Given the description of an element on the screen output the (x, y) to click on. 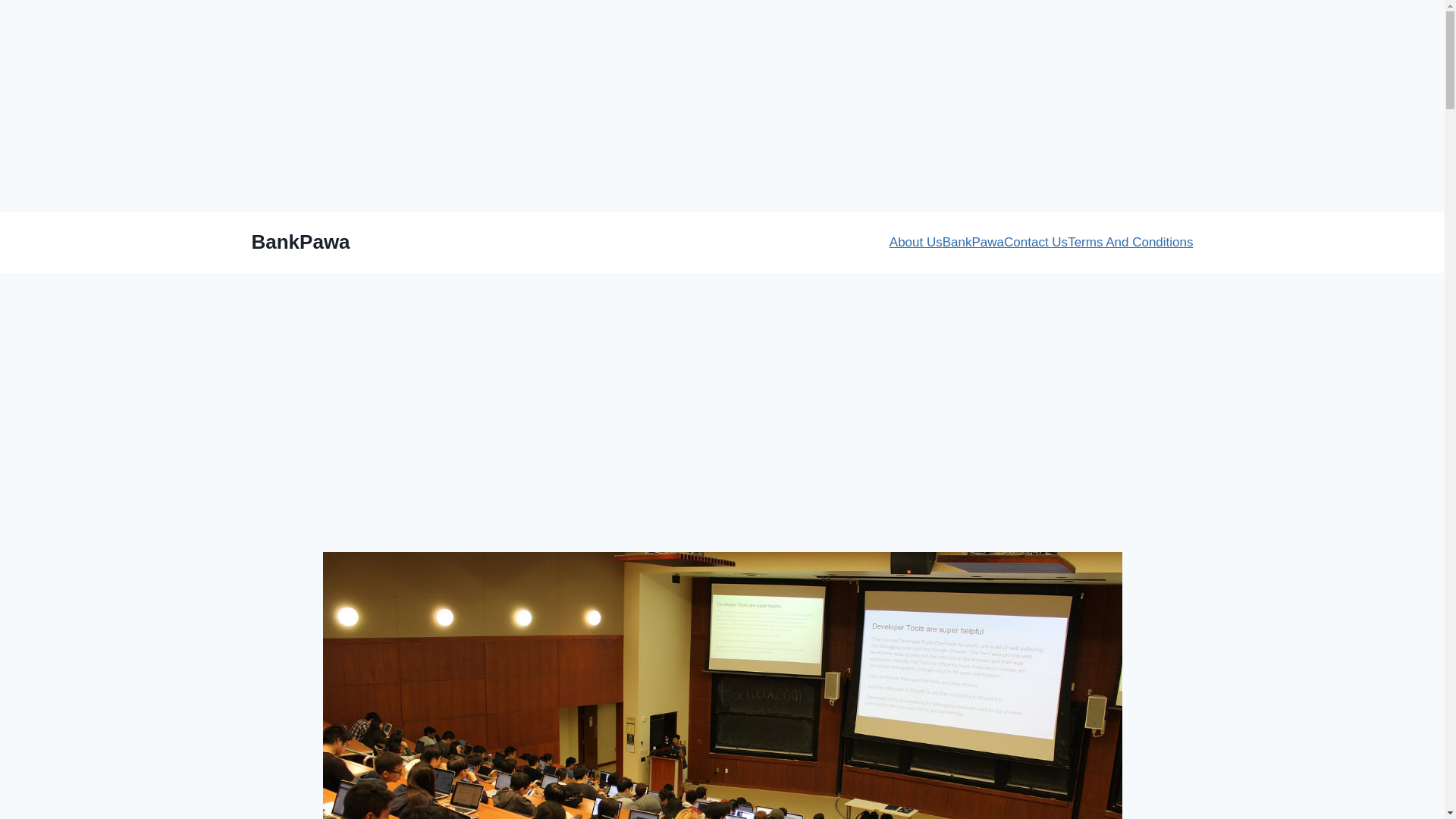
BankPawa (300, 241)
Advertisement (722, 439)
Contact Us (1035, 242)
Terms And Conditions (1129, 242)
BankPawa (973, 242)
About Us (915, 242)
